Given the description of an element on the screen output the (x, y) to click on. 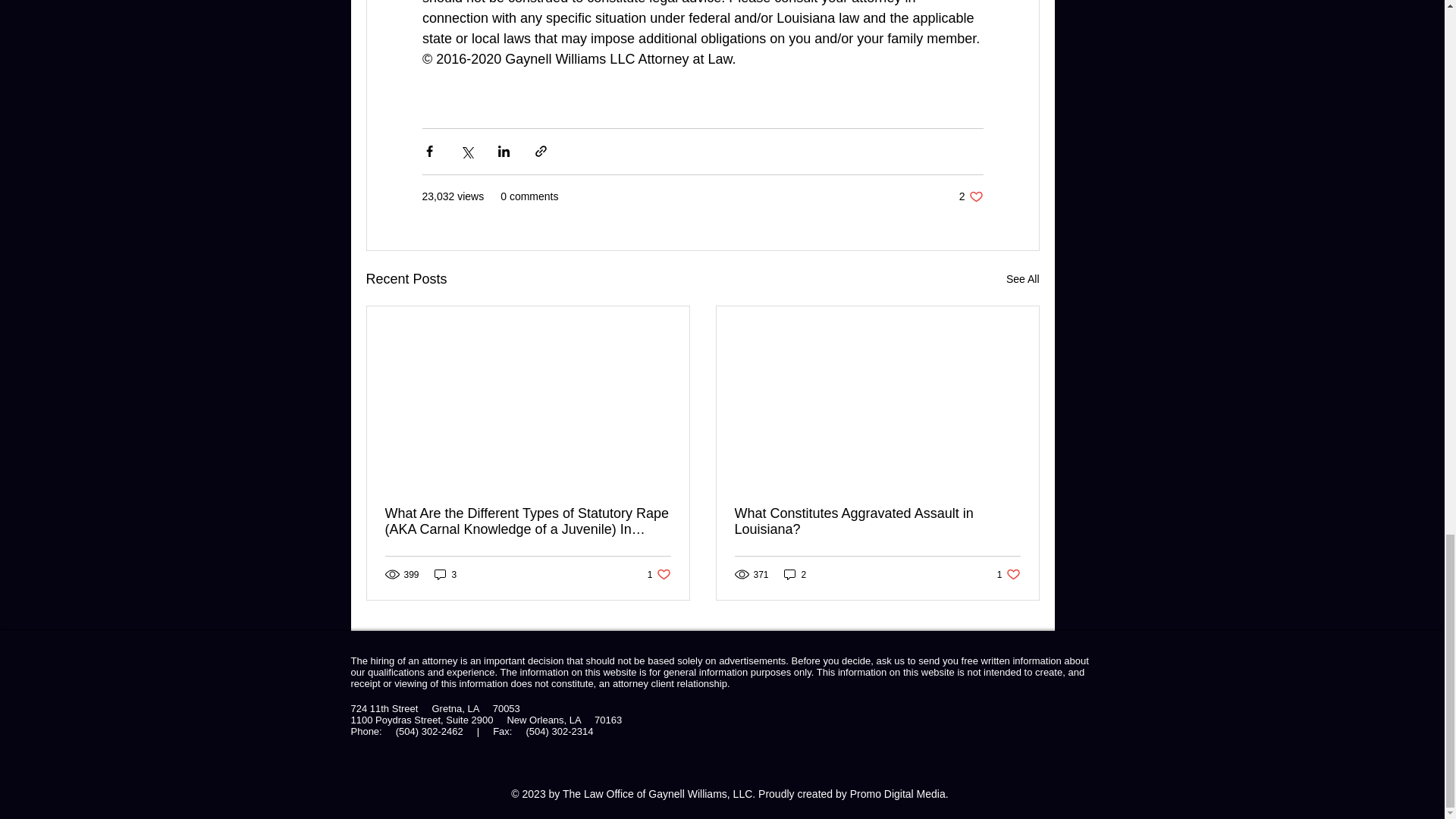
See All (1022, 279)
